Given the description of an element on the screen output the (x, y) to click on. 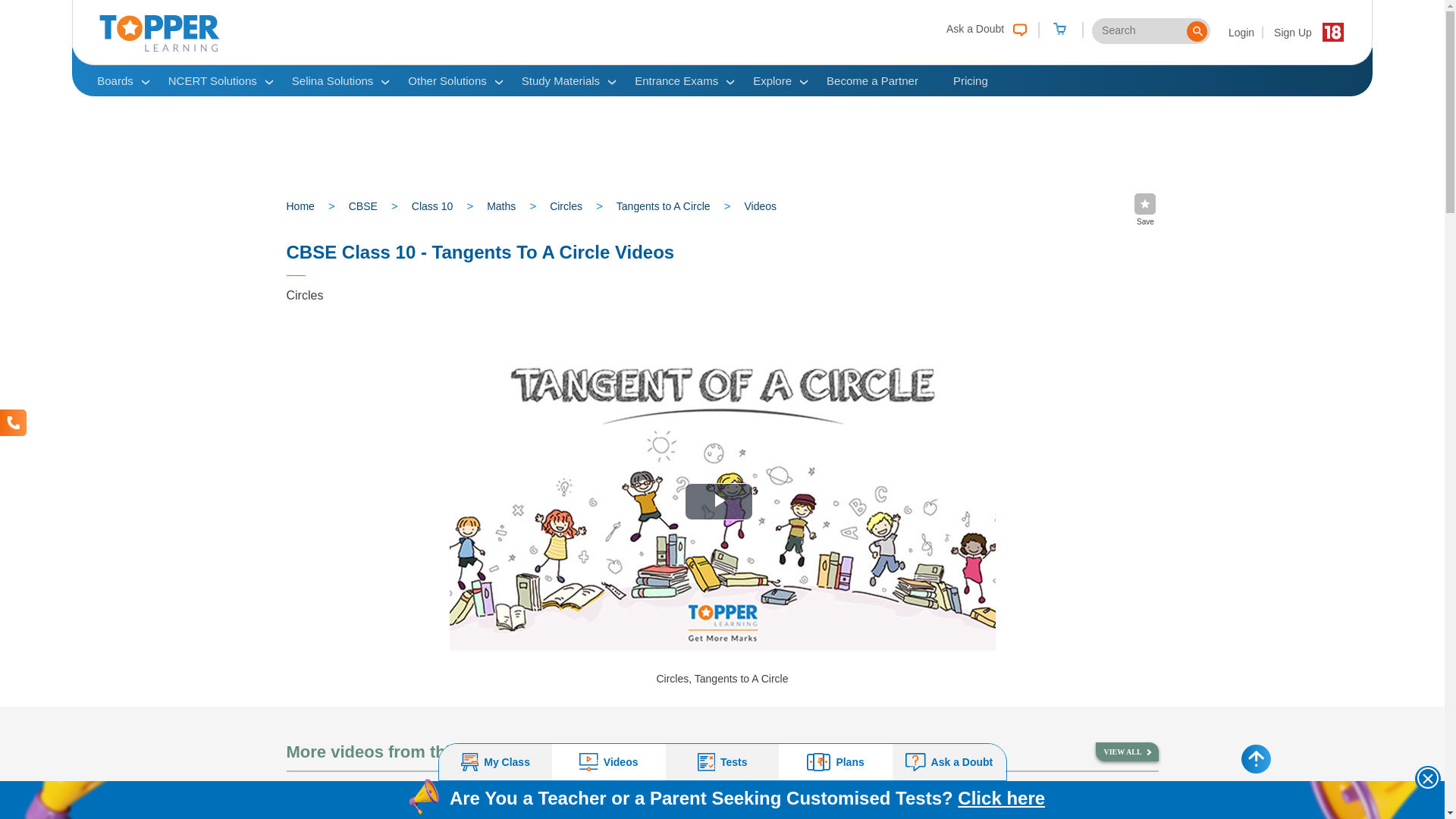
Login (1242, 32)
Sign Up (1292, 32)
Boards (114, 80)
Ask a Doubt (983, 28)
Cart (1059, 30)
Play Video (718, 501)
TopperLearning (159, 47)
